Given the description of an element on the screen output the (x, y) to click on. 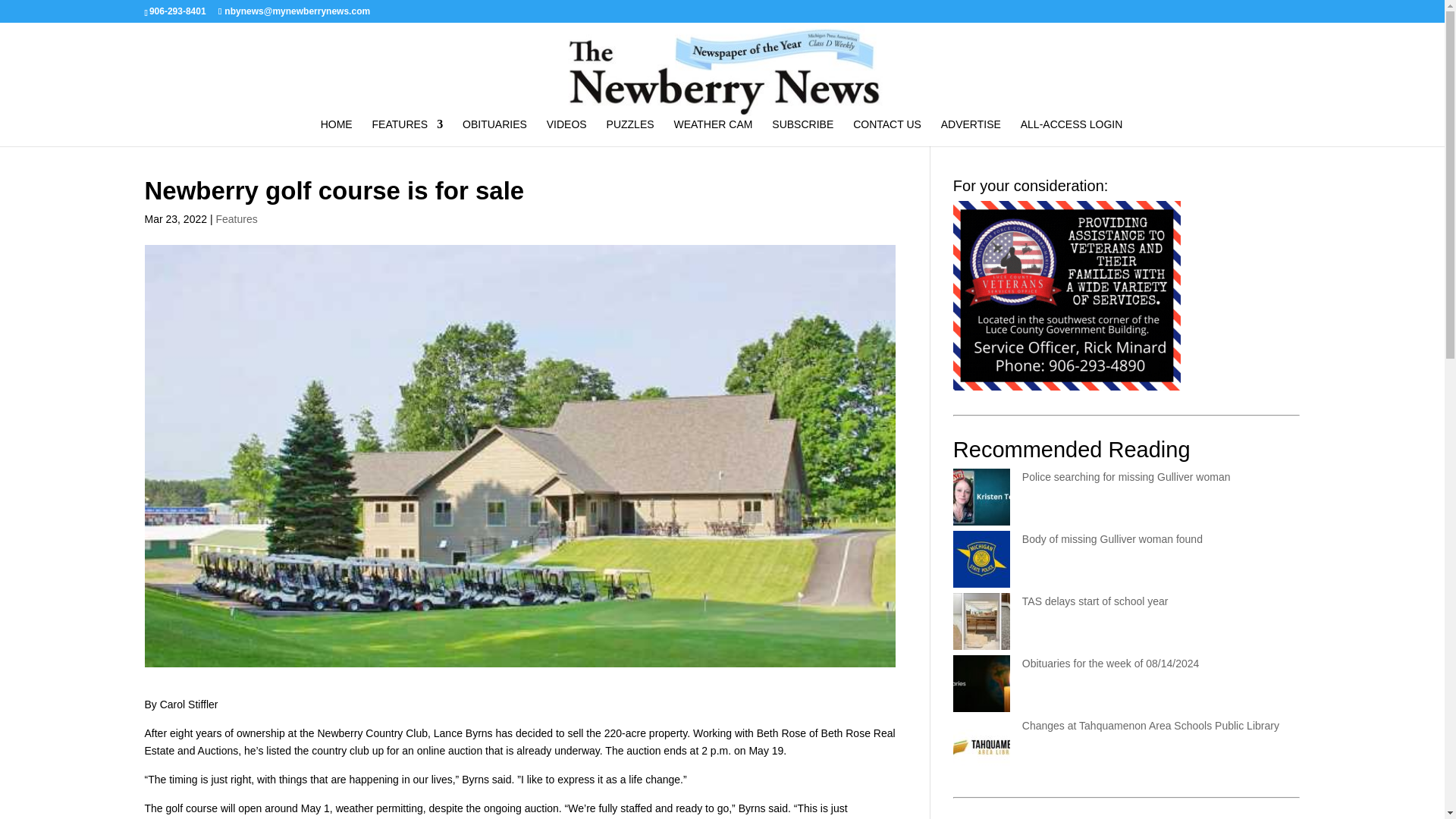
Features (236, 218)
Police searching for missing Gulliver woman (1126, 476)
Body of missing Gulliver woman found (1112, 539)
CONTACT US (887, 132)
FEATURES (408, 132)
SUBSCRIBE (801, 132)
TAS delays start of school year (1095, 601)
PUZZLES (630, 132)
WEATHER CAM (712, 132)
VIDEOS (566, 132)
